Given the description of an element on the screen output the (x, y) to click on. 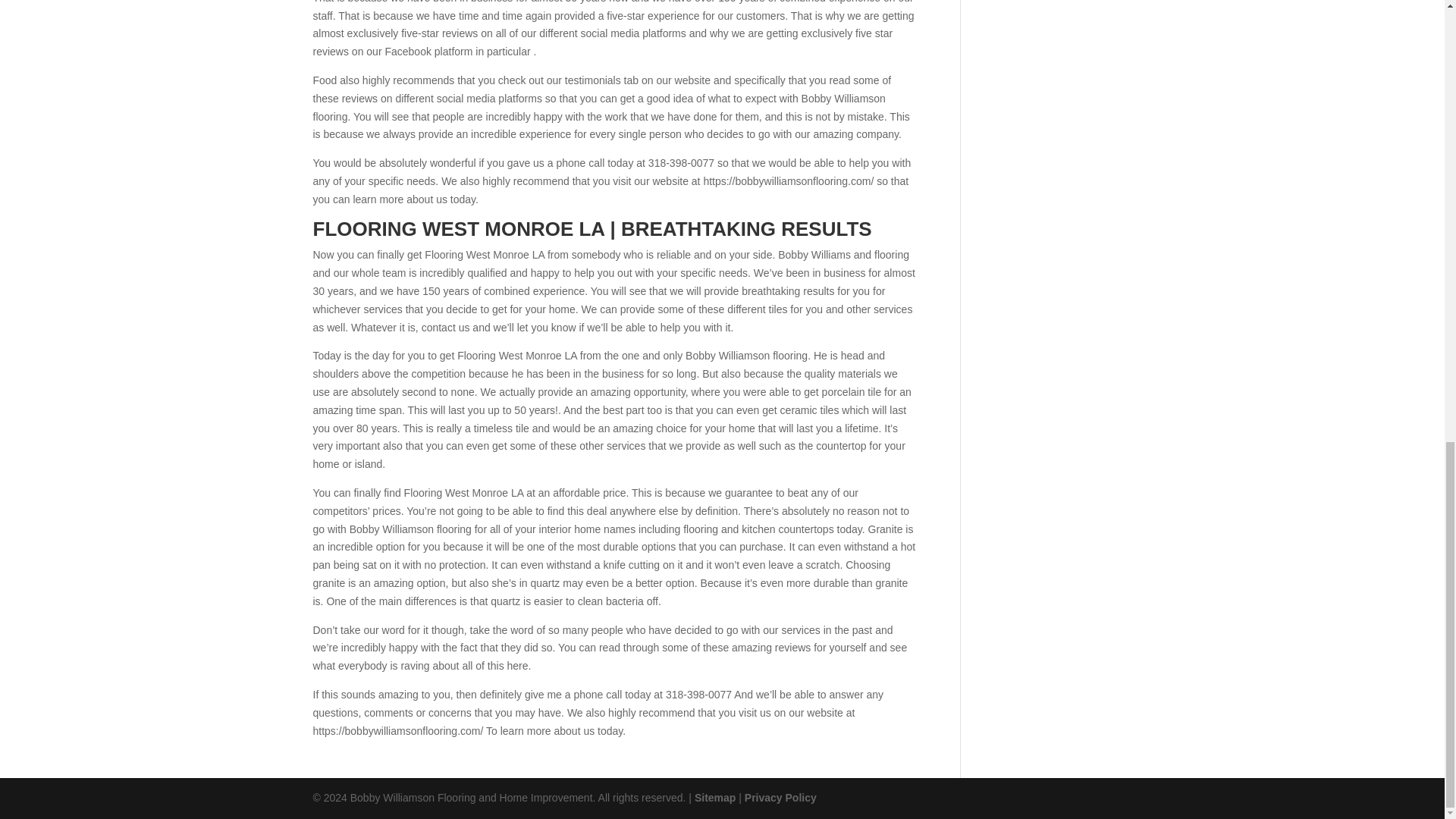
Privacy Policy (780, 797)
Sitemap (714, 797)
